Given the description of an element on the screen output the (x, y) to click on. 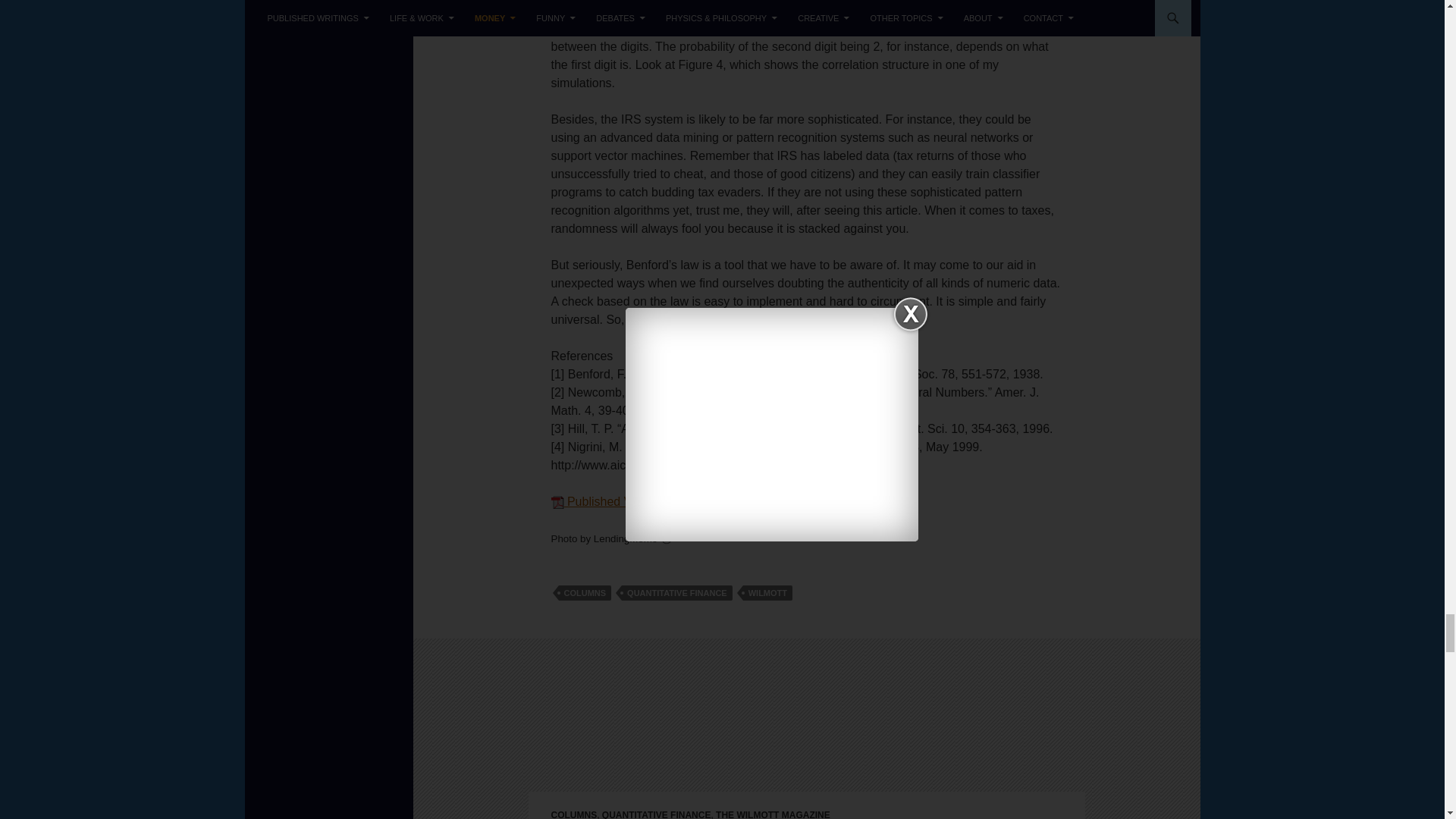
Attribution License (666, 538)
